Given the description of an element on the screen output the (x, y) to click on. 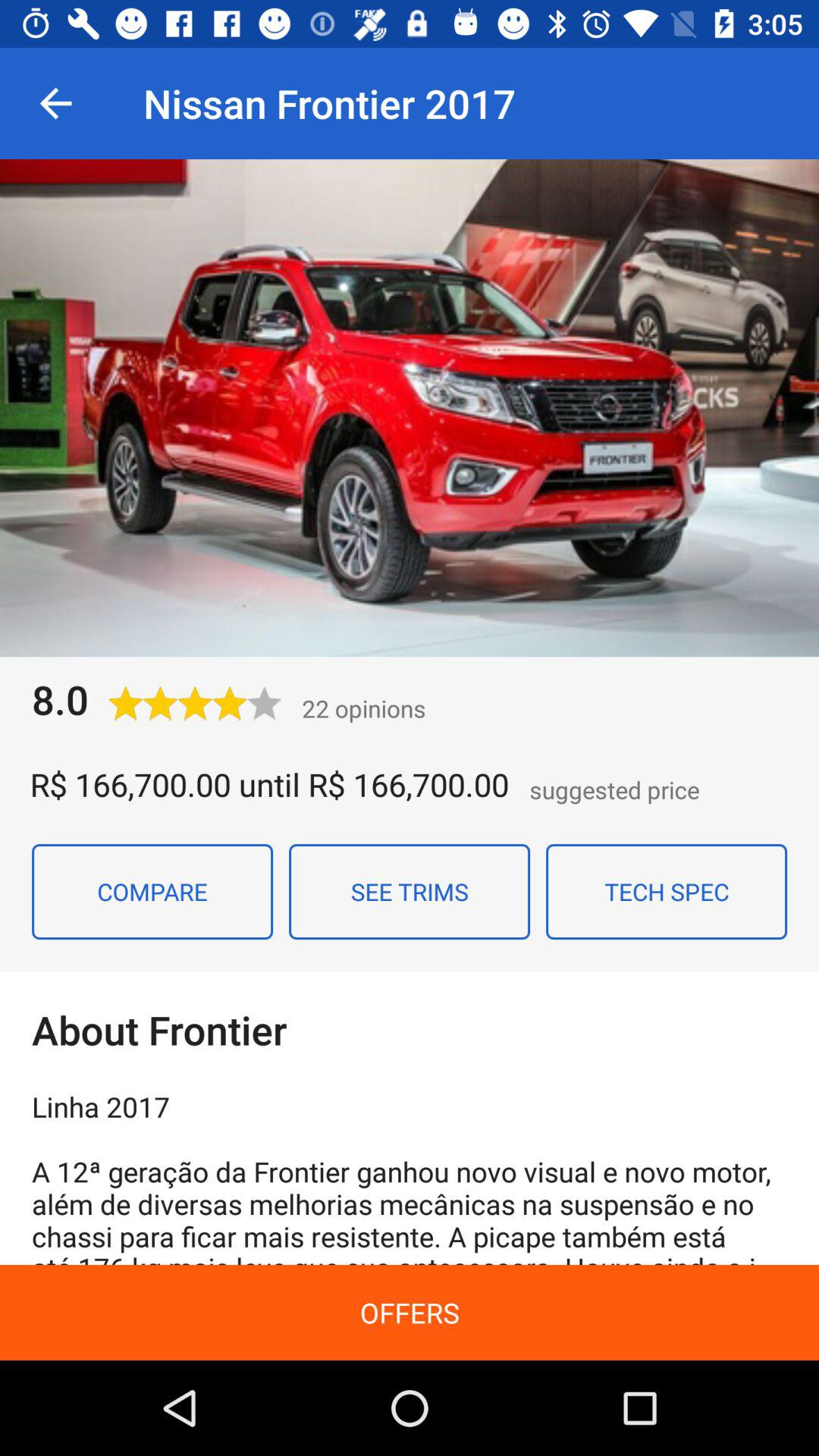
choose the icon below the linha 2017 a icon (409, 1312)
